Given the description of an element on the screen output the (x, y) to click on. 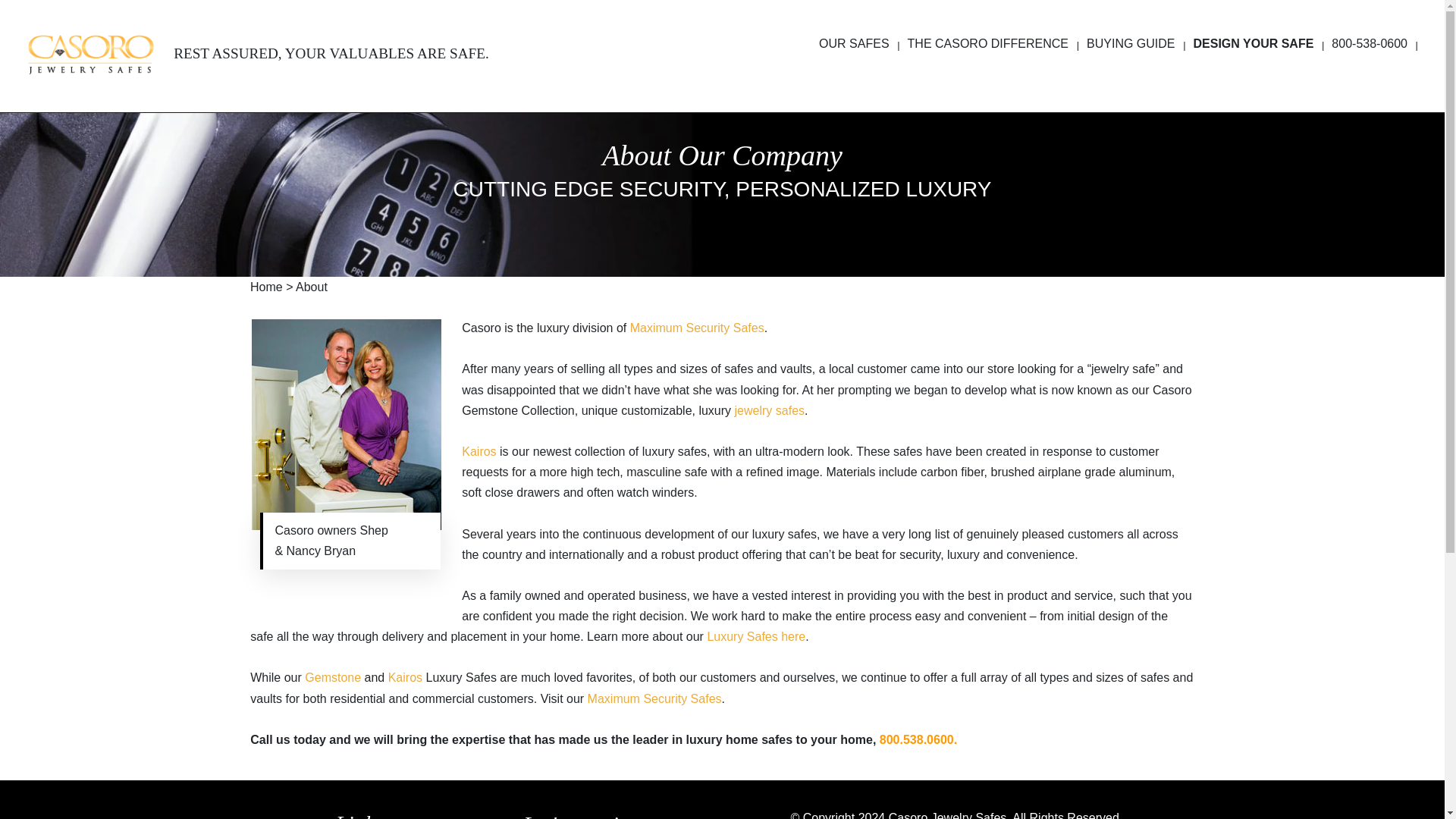
OUR SAFES (858, 64)
Casoro owners Shep and Nancy Bryan (346, 424)
BUYING GUIDE (1136, 64)
THE CASORO DIFFERENCE (993, 64)
